Given the description of an element on the screen output the (x, y) to click on. 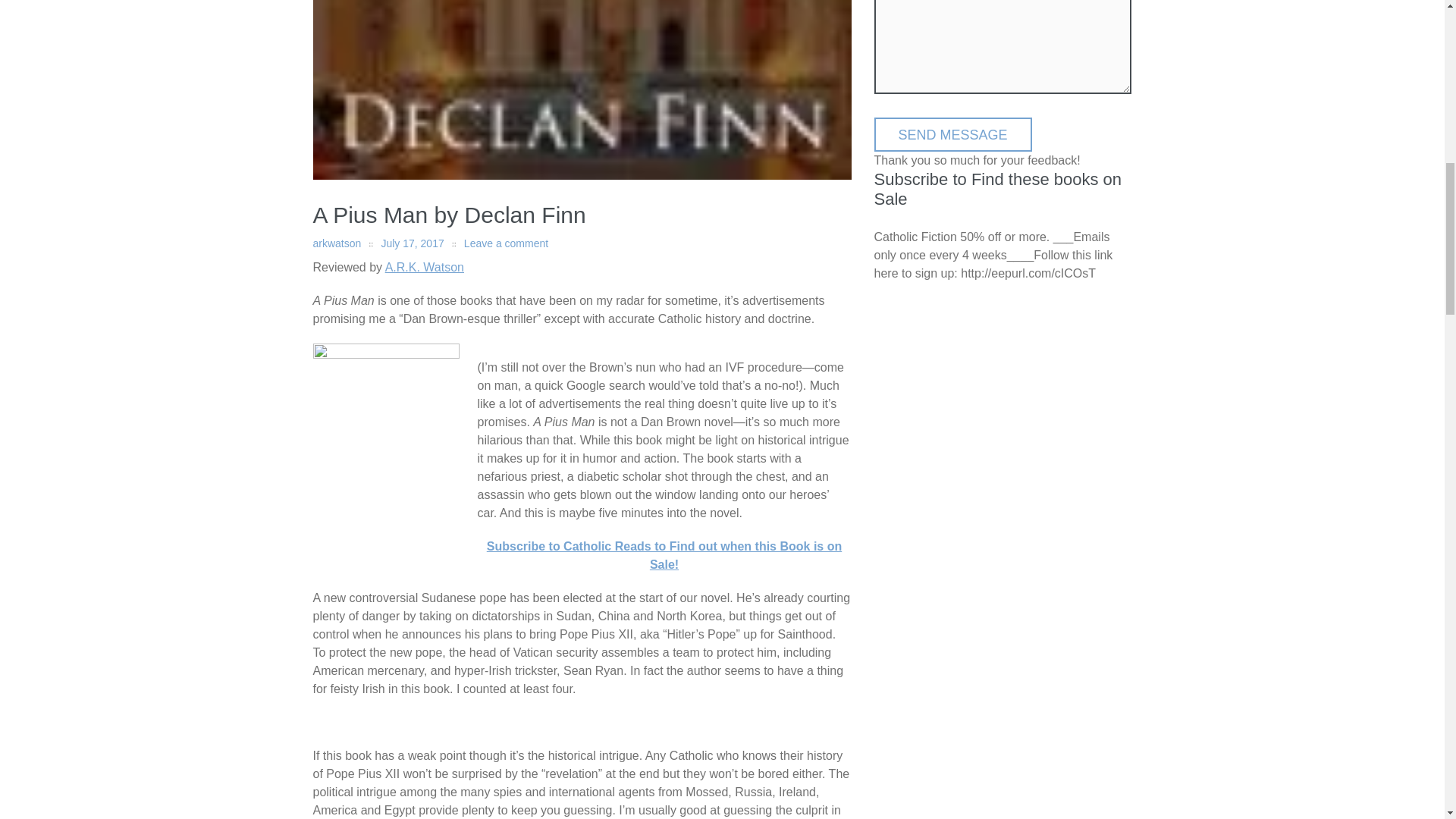
A.R.K. Watson (424, 267)
Send Message (951, 134)
arkwatson (337, 243)
July 17, 2017 (412, 243)
Leave a comment (506, 243)
